Given the description of an element on the screen output the (x, y) to click on. 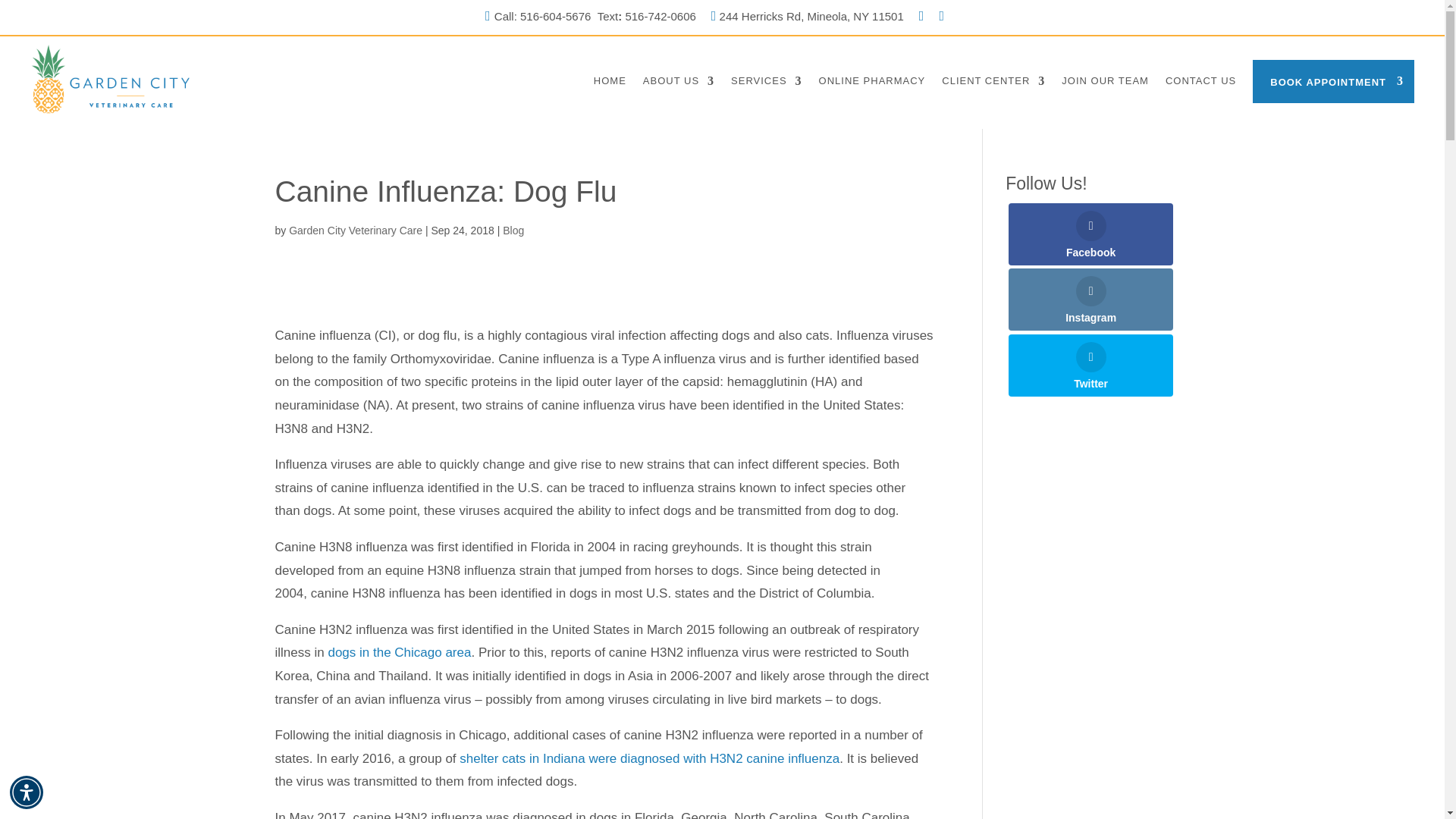
244 Herricks Rd, Mineola, NY 11501 (811, 15)
CLIENT CENTER (993, 80)
JOIN OUR TEAM (1104, 80)
BOOK APPOINTMENT (1332, 81)
Accessibility Menu (26, 792)
CONTACT US (1201, 80)
516-742-0606 (658, 15)
516-604-5676 (555, 15)
Posts by Garden City Veterinary Care (355, 230)
ONLINE PHARMACY (872, 80)
SERVICES (766, 80)
ABOUT US (678, 80)
